Given the description of an element on the screen output the (x, y) to click on. 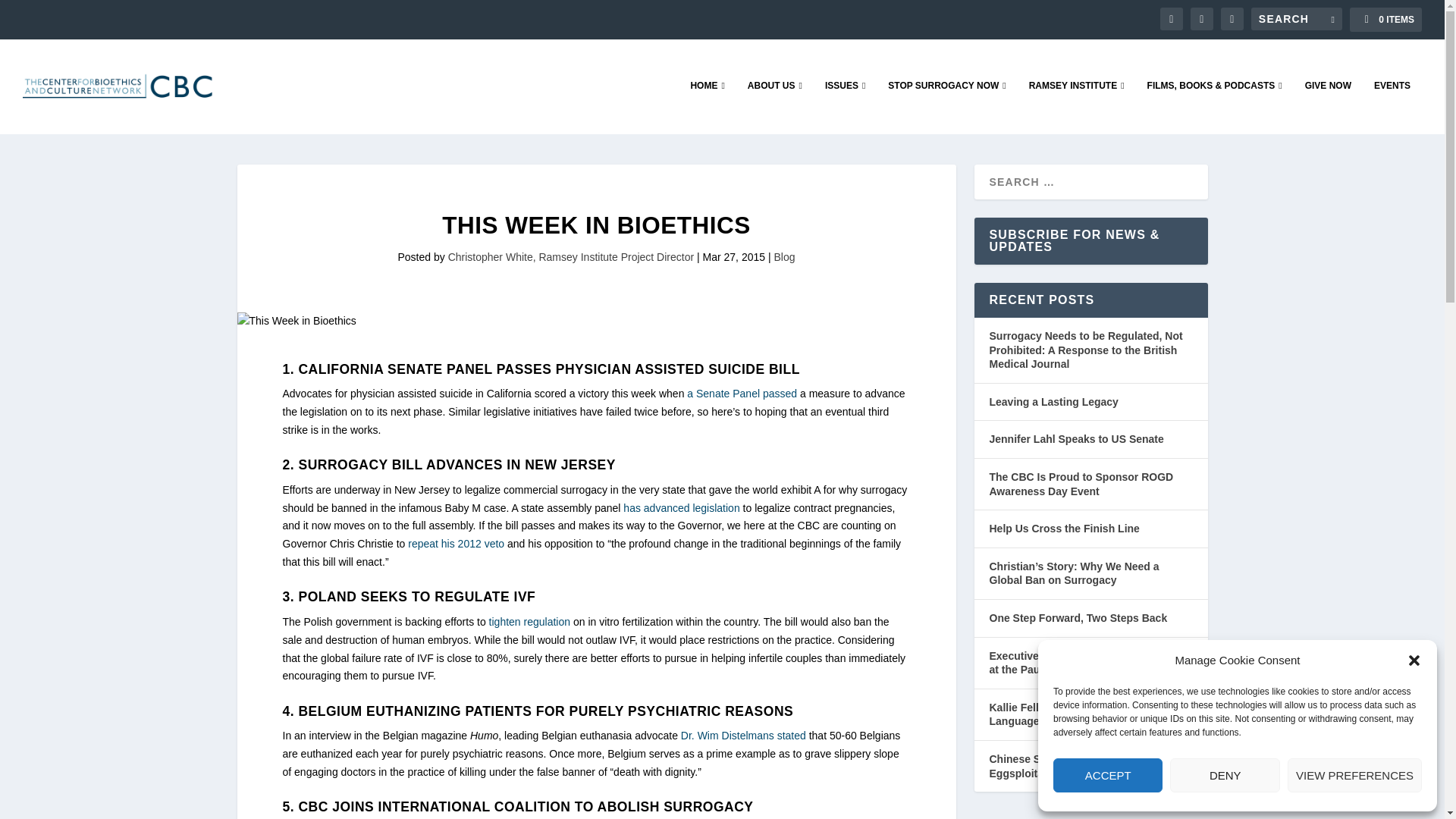
ACCEPT (1106, 775)
0 ITEMS (1385, 19)
ABOUT US (775, 106)
0 Items in Cart (1385, 19)
DENY (1224, 775)
VIEW PREFERENCES (1354, 775)
Search for: (1296, 18)
